Given the description of an element on the screen output the (x, y) to click on. 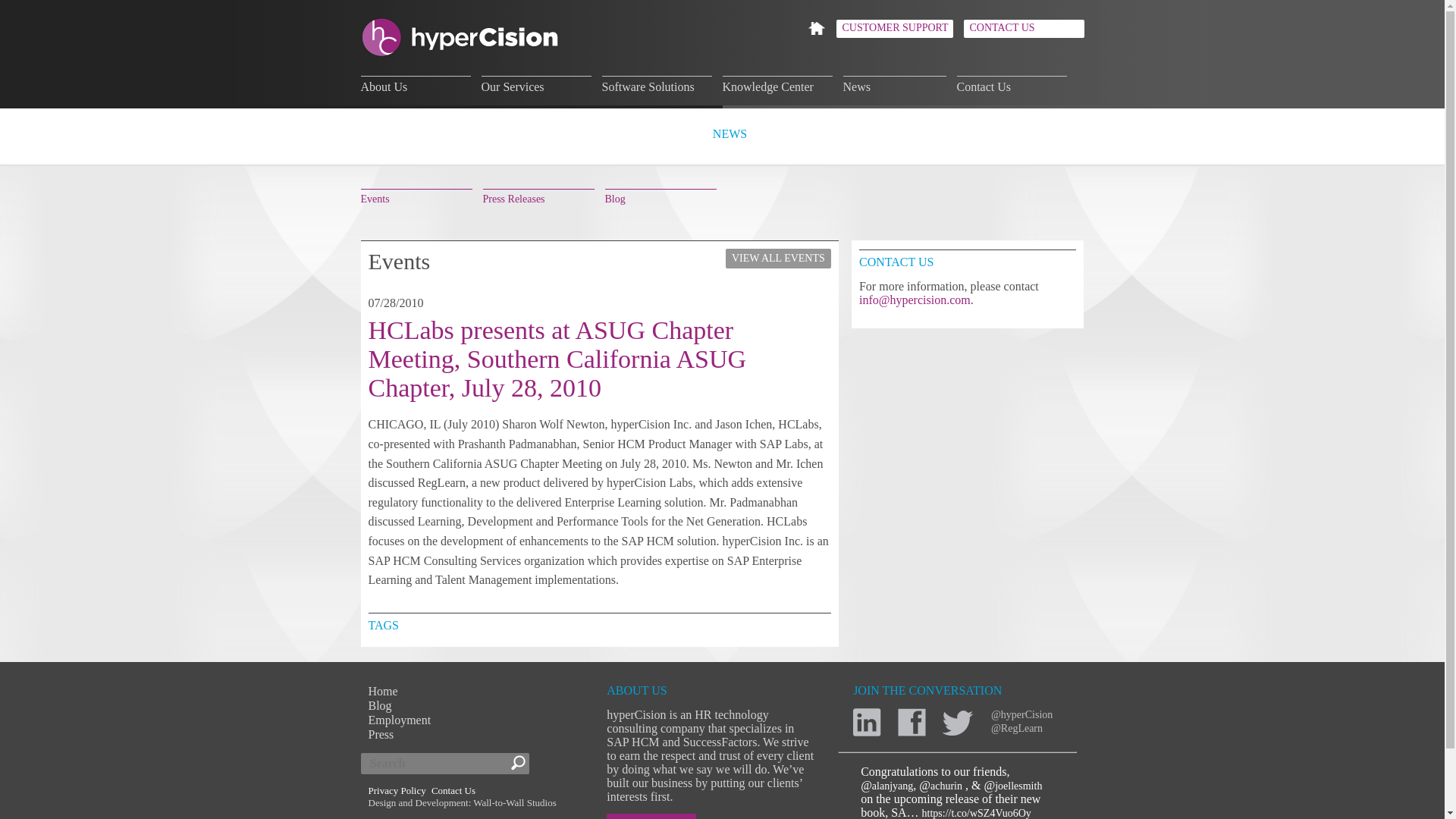
Events (416, 197)
Software Solutions (656, 85)
CUSTOMER SUPPORT (893, 28)
Home (382, 690)
About Us (415, 85)
CONTACT US (1022, 28)
VIEW ALL EVENTS (778, 258)
Contact Us (1011, 85)
Knowledge Center (776, 85)
Blog (379, 705)
Press Releases (537, 197)
News (894, 85)
Our Services (535, 85)
Blog (660, 197)
